Given the description of an element on the screen output the (x, y) to click on. 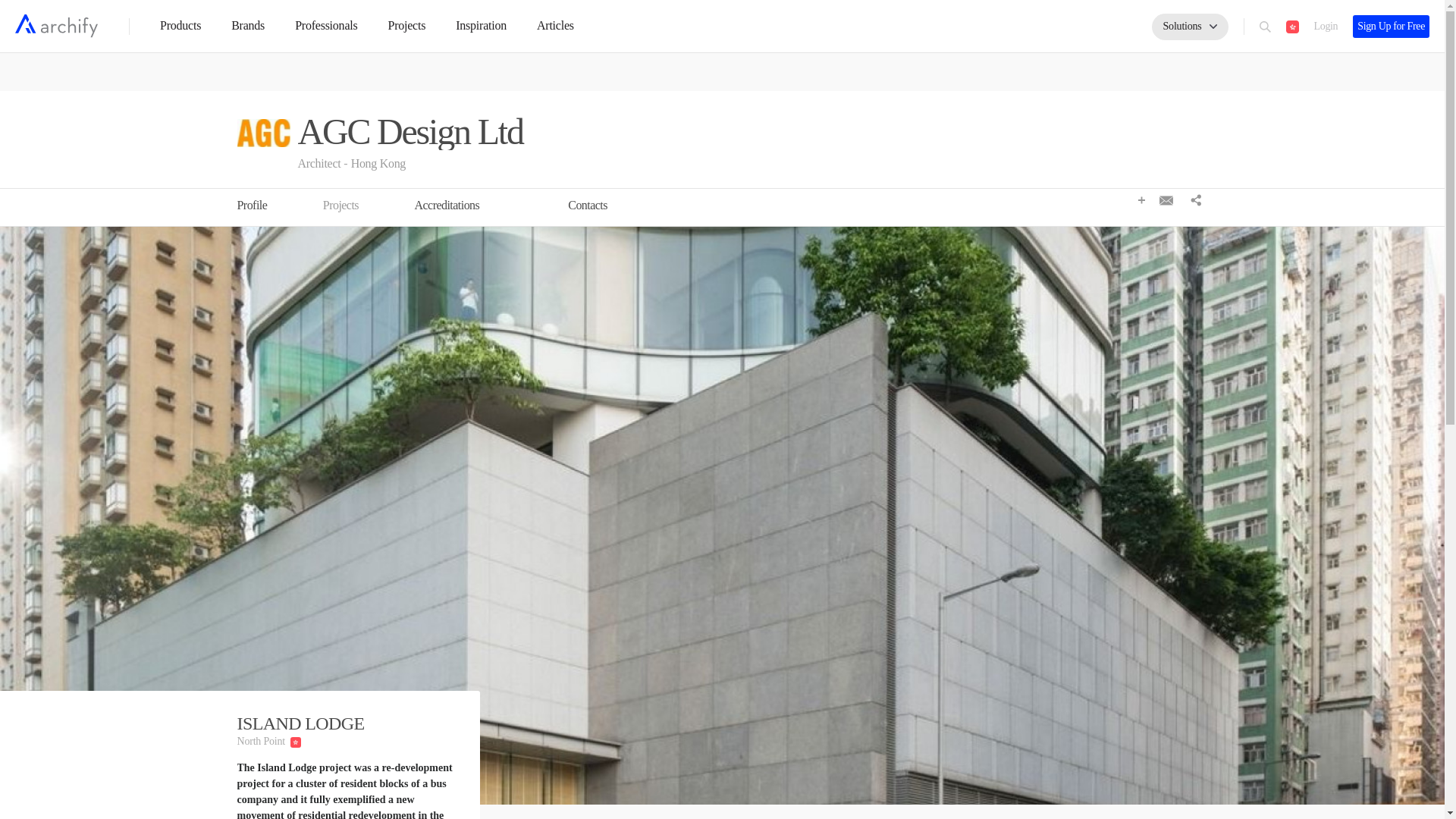
Professionals (325, 24)
Products (180, 24)
Sign Up for Free (1390, 26)
Inspiration (480, 24)
Login (1326, 25)
Sign Up for Free (1390, 25)
Articles (555, 24)
Projects (406, 24)
Brands (247, 24)
